Given the description of an element on the screen output the (x, y) to click on. 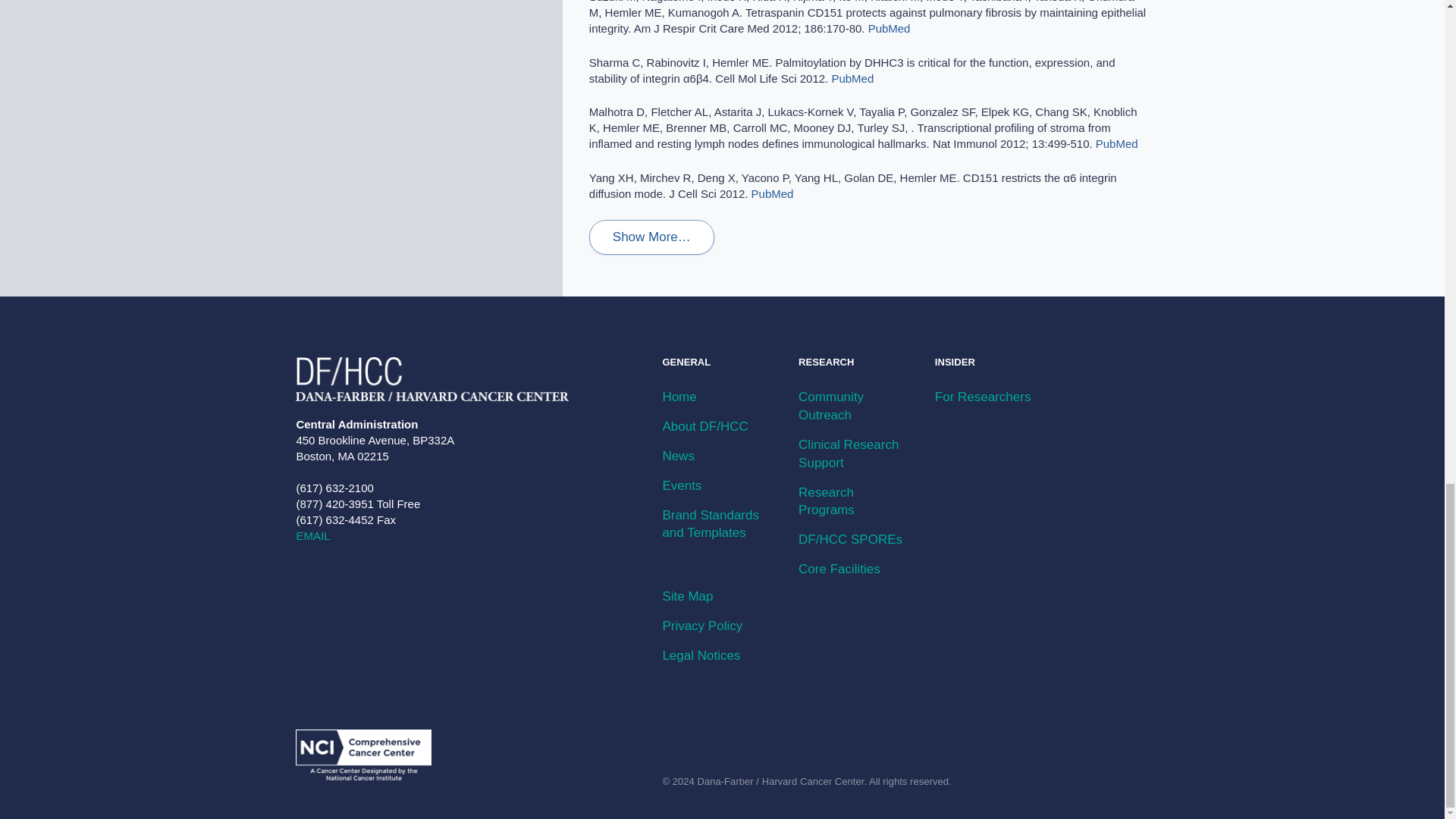
PubMed (772, 193)
PubMed (889, 28)
PubMed (1117, 143)
PubMed (852, 78)
